Given the description of an element on the screen output the (x, y) to click on. 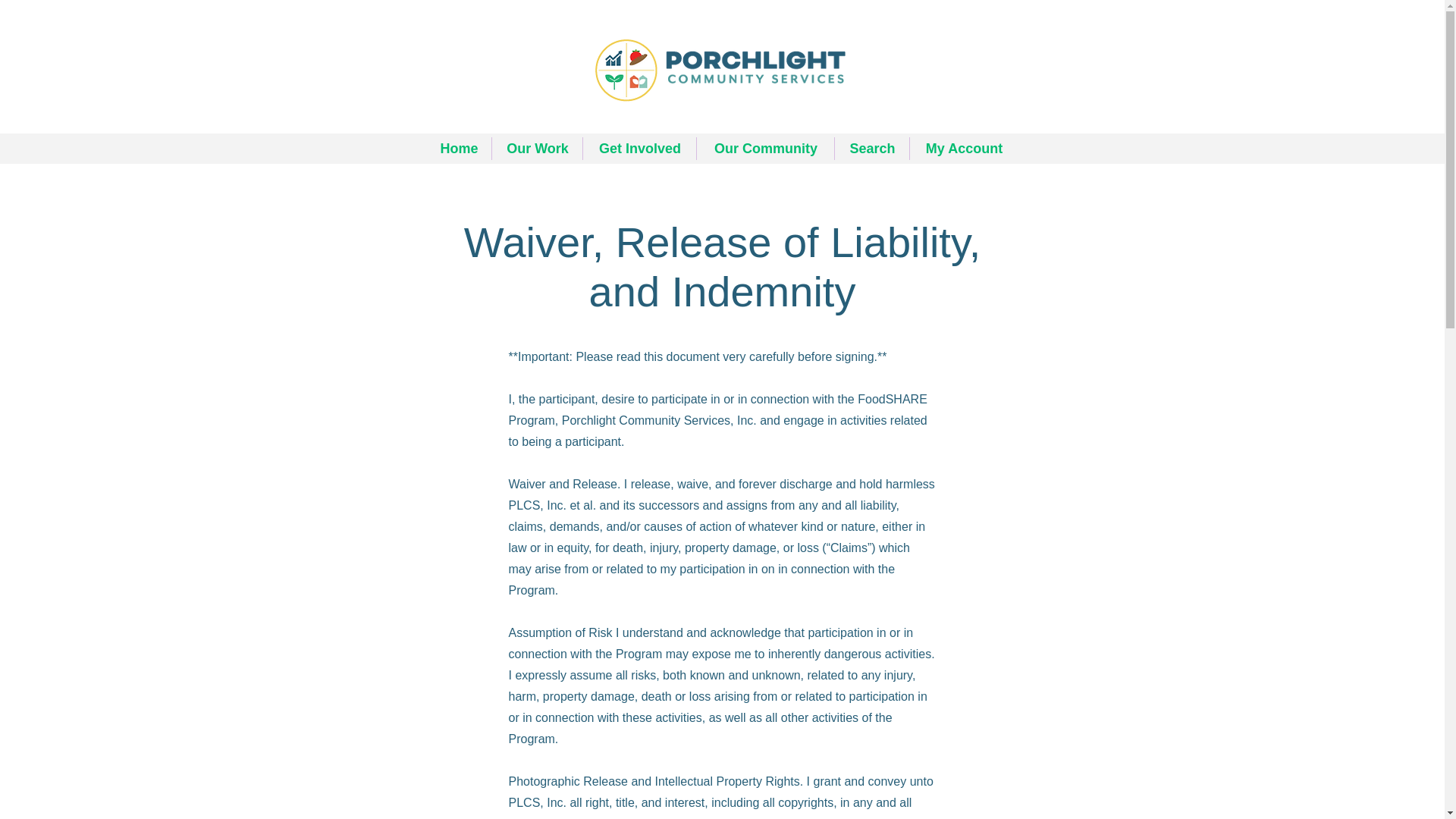
My Account (963, 148)
Search (871, 148)
Our Community (765, 148)
Our Work (537, 148)
Home (459, 148)
Get Involved (639, 148)
